Given the description of an element on the screen output the (x, y) to click on. 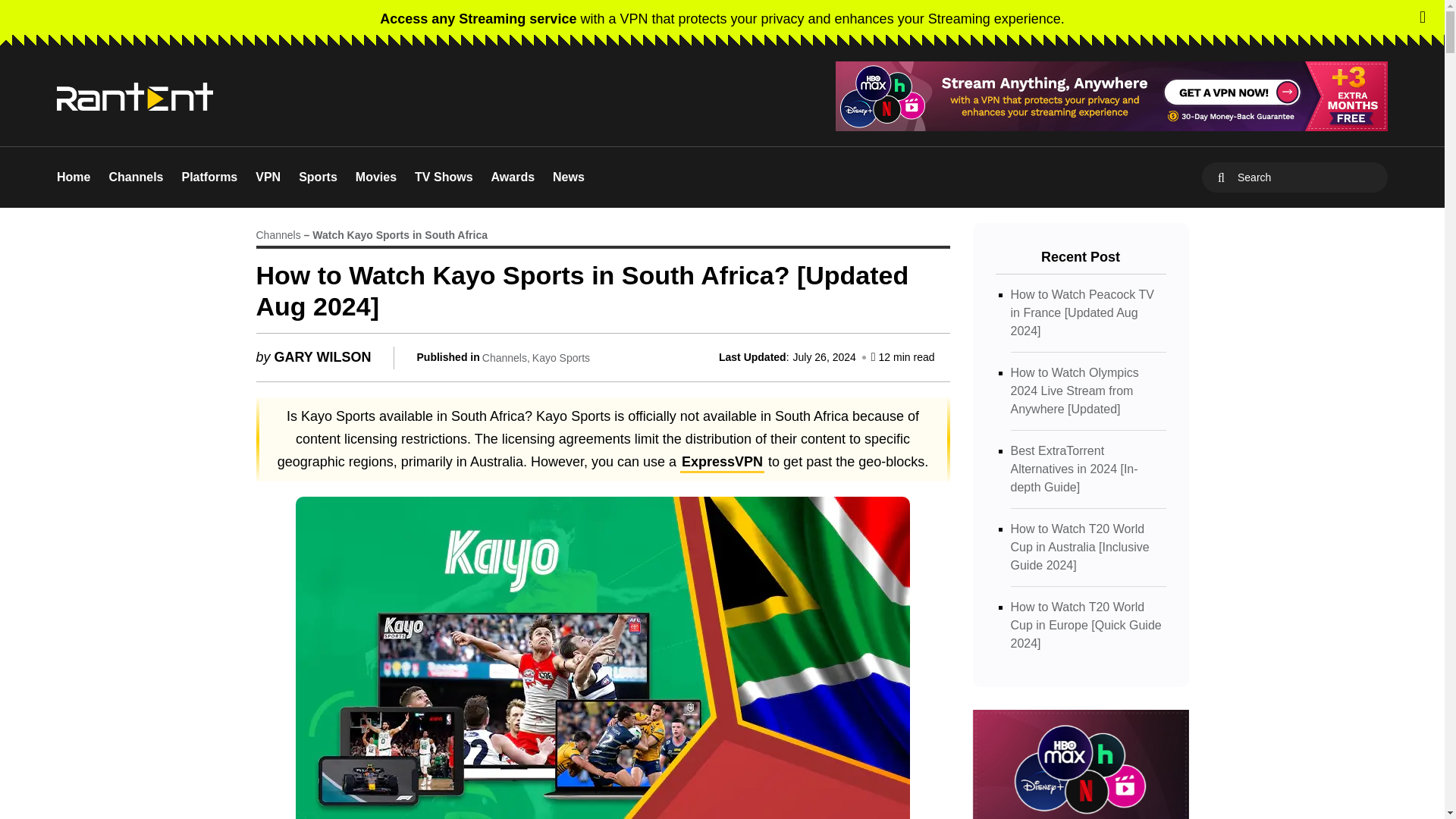
TV Shows (442, 177)
ExpressVPN Exclusive Deal (1111, 96)
ExpressVPN Exclusive Deal (1111, 95)
Channels (135, 177)
ExpressVPN Exclusive Deal (722, 18)
Platforms (208, 177)
